Given the description of an element on the screen output the (x, y) to click on. 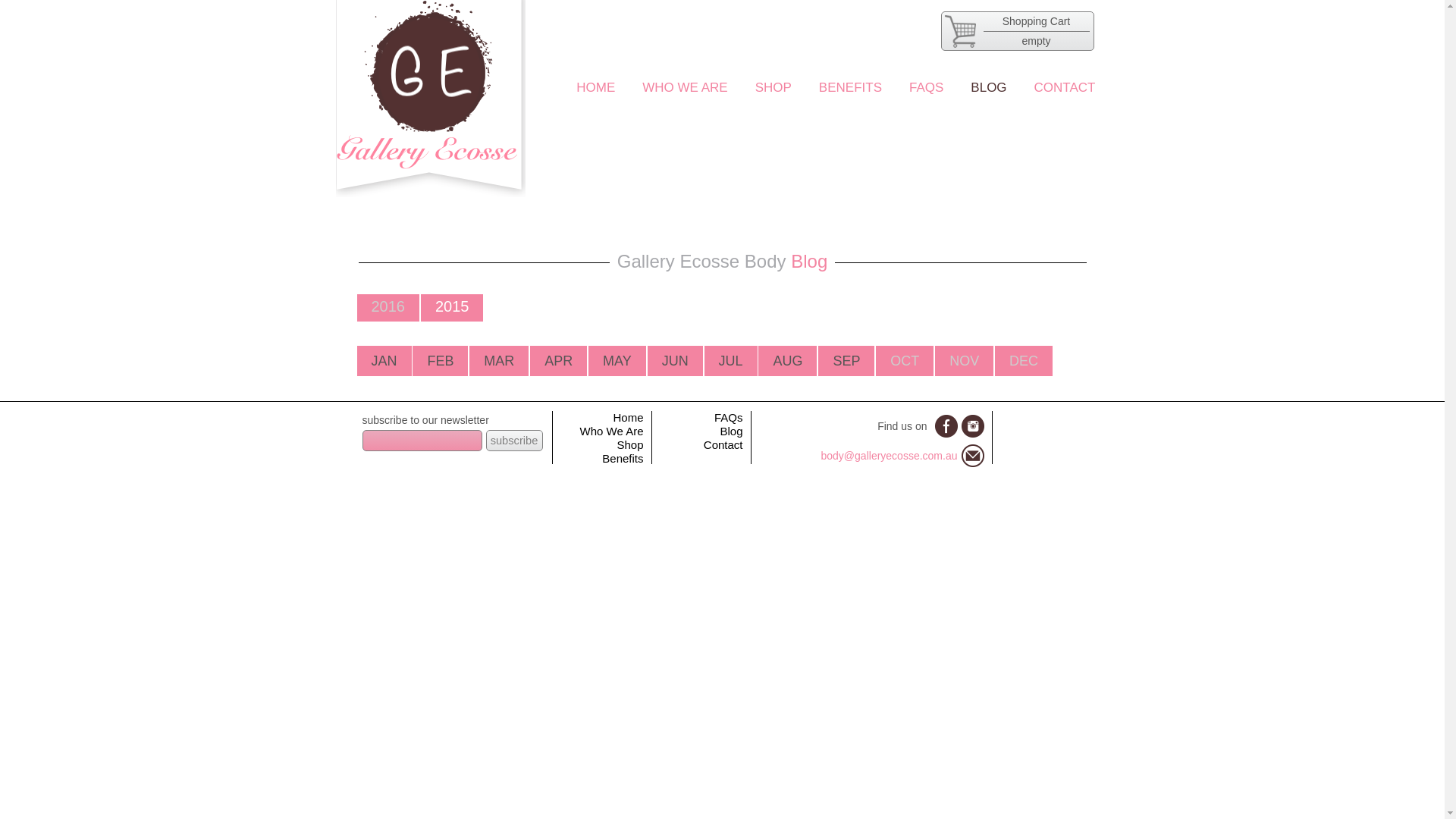
MAR Element type: text (498, 360)
APR Element type: text (558, 360)
BENEFITS Element type: text (850, 87)
2016 Element type: text (388, 306)
DEC Element type: text (1023, 360)
SEP Element type: text (845, 360)
HOME Element type: text (595, 87)
FAQs Element type: text (728, 417)
Benefits Element type: text (622, 457)
FAQS Element type: text (926, 87)
Contact Element type: text (723, 444)
JUL Element type: text (730, 360)
Shop Element type: text (629, 444)
WHO WE ARE Element type: text (684, 87)
SHOP Element type: text (773, 87)
Who We Are Element type: text (611, 430)
MAY Element type: text (616, 360)
OCT Element type: text (904, 360)
  Shopping Cart
empty Element type: text (1016, 30)
Gallery Ecosse | instagram Element type: hover (972, 425)
NOV Element type: text (964, 360)
JAN Element type: text (384, 360)
Home Element type: text (627, 417)
CONTACT Element type: text (1064, 87)
body@galleryecosse.com.au Element type: text (889, 455)
JUN Element type: text (675, 360)
subscribe Element type: text (513, 440)
BLOG Element type: text (988, 87)
Gallery Ecosse | facebook Element type: hover (945, 425)
AUG Element type: text (787, 360)
2015 Element type: text (452, 306)
Blog Element type: text (730, 430)
FEB Element type: text (439, 360)
